Given the description of an element on the screen output the (x, y) to click on. 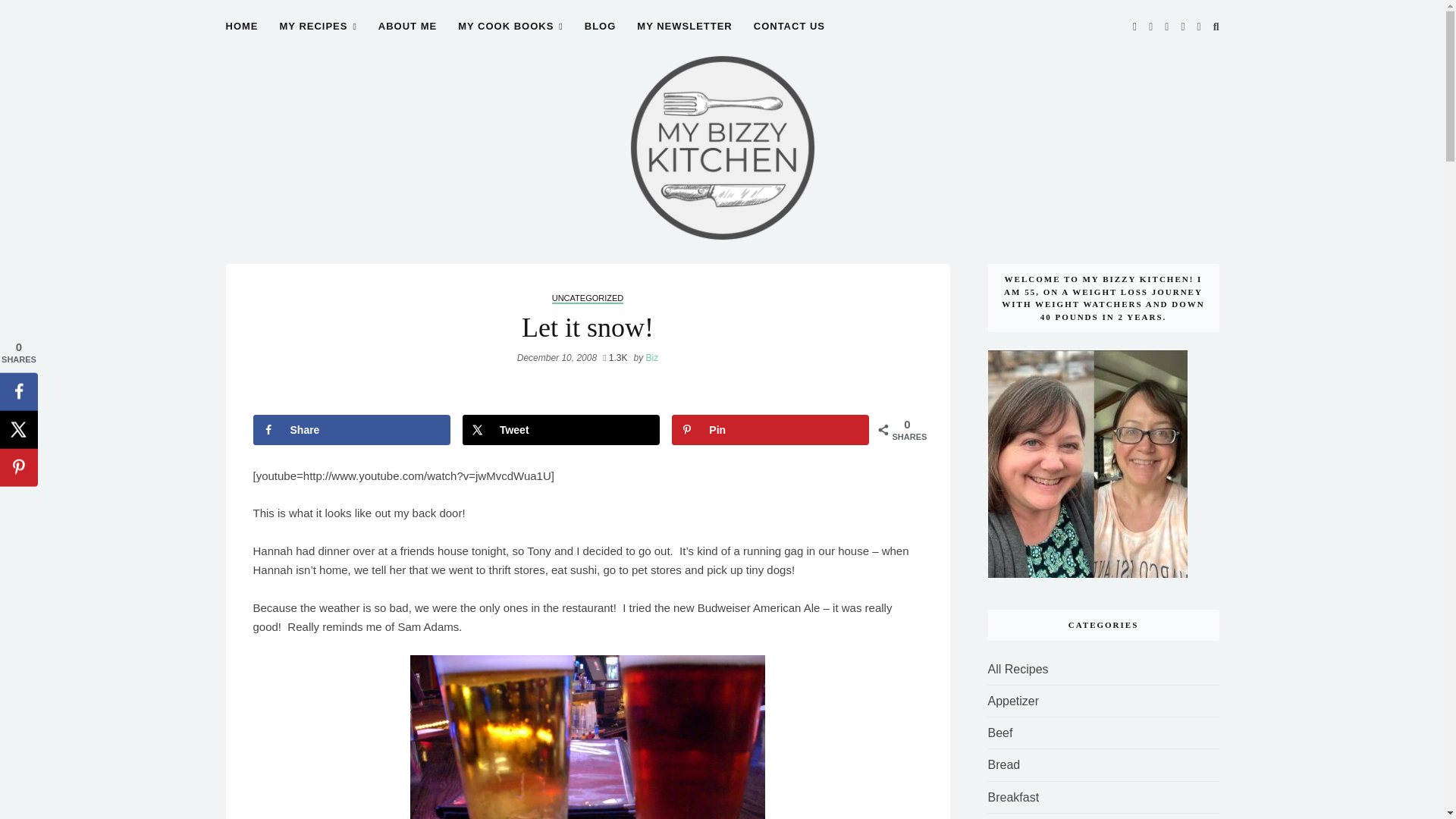
Share on Facebook (351, 429)
MY RECIPES (317, 35)
Share on X (561, 429)
Save to Pinterest (770, 429)
dscn3531-640x480 (587, 737)
HOME (242, 35)
